Given the description of an element on the screen output the (x, y) to click on. 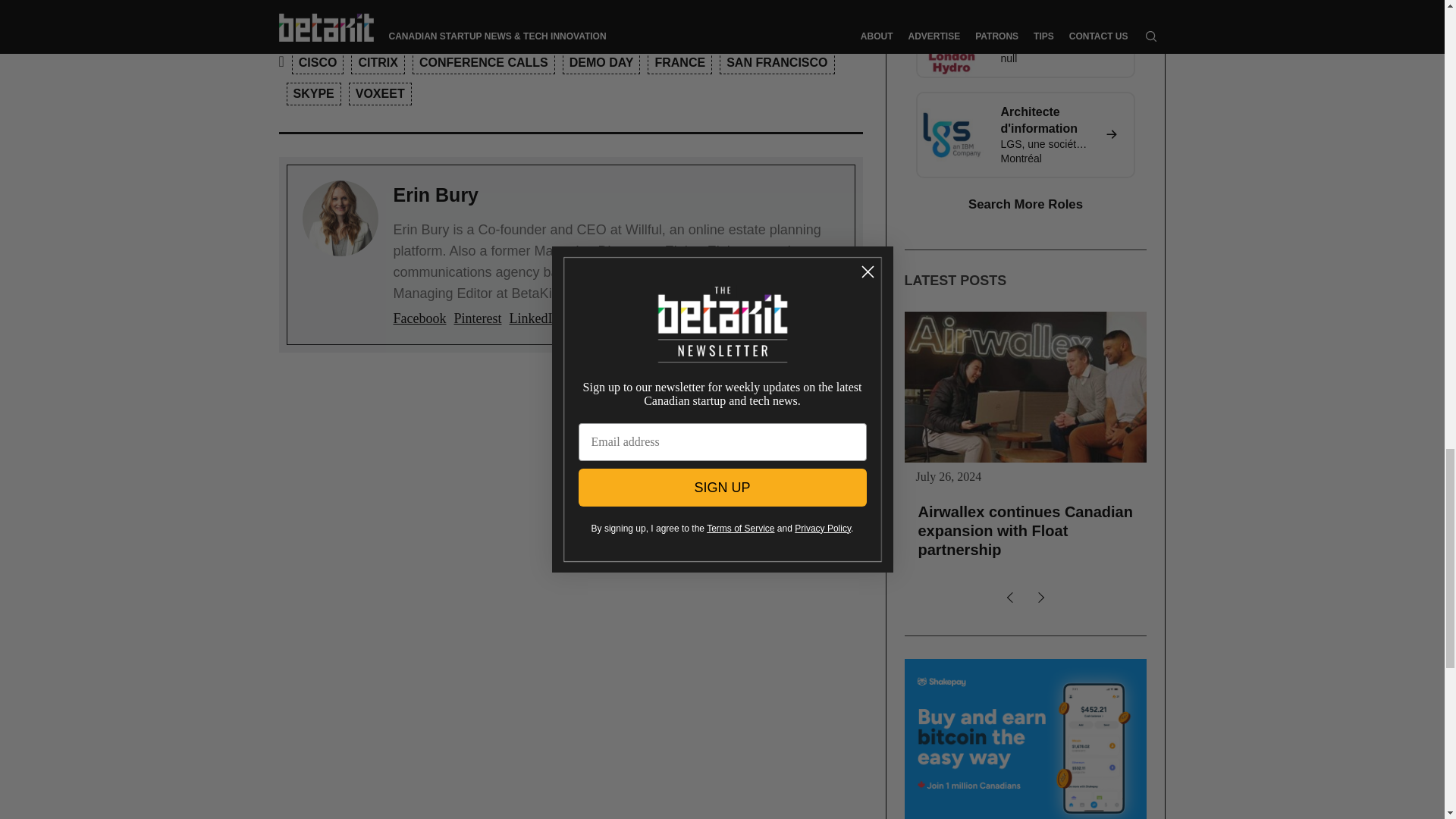
Erin Bury (436, 194)
